Given the description of an element on the screen output the (x, y) to click on. 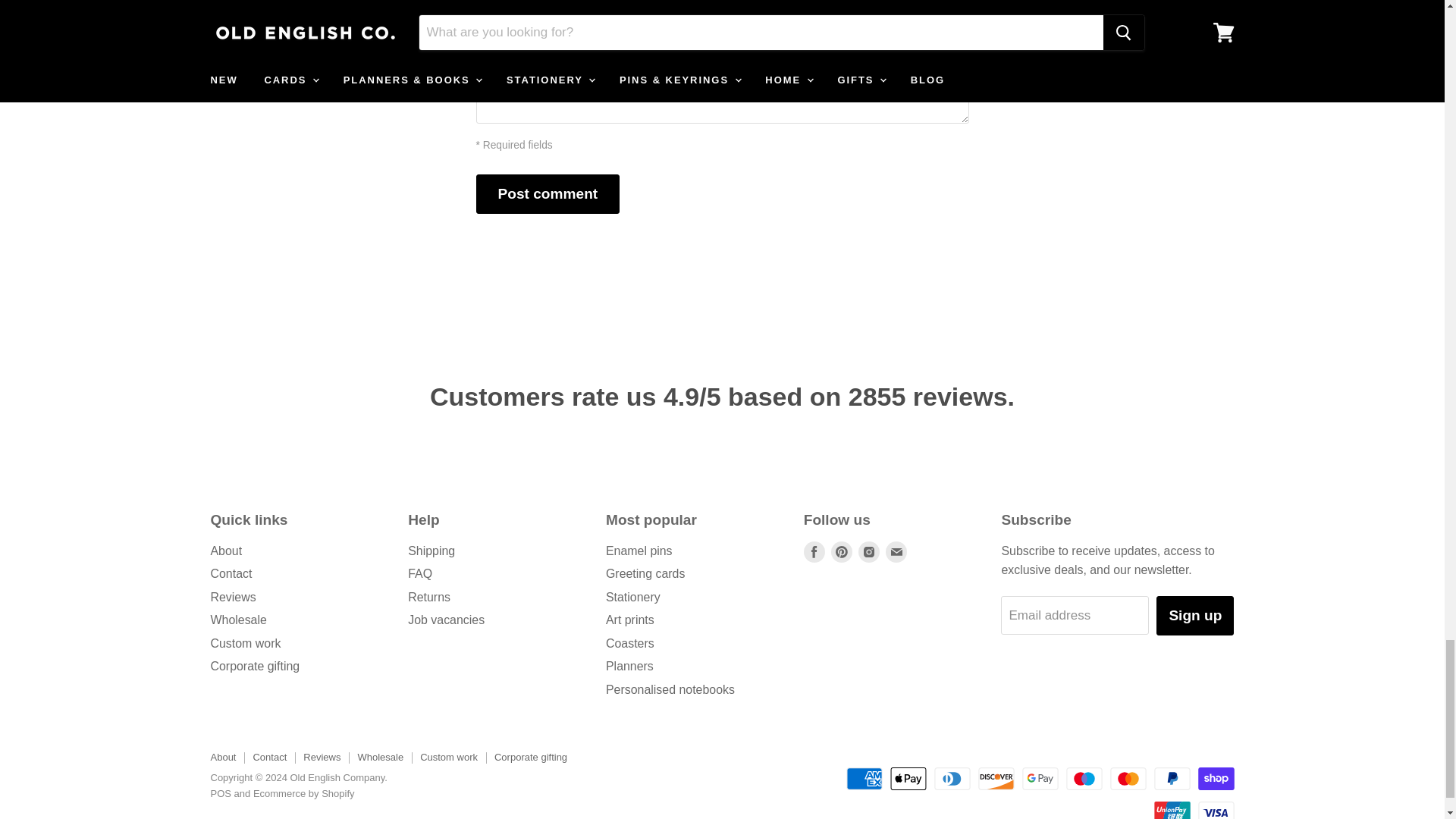
Diners Club (952, 778)
Instagram (869, 551)
E-mail (896, 551)
American Express (863, 778)
Discover (996, 778)
Facebook (814, 551)
Pinterest (841, 551)
Apple Pay (907, 778)
